Given the description of an element on the screen output the (x, y) to click on. 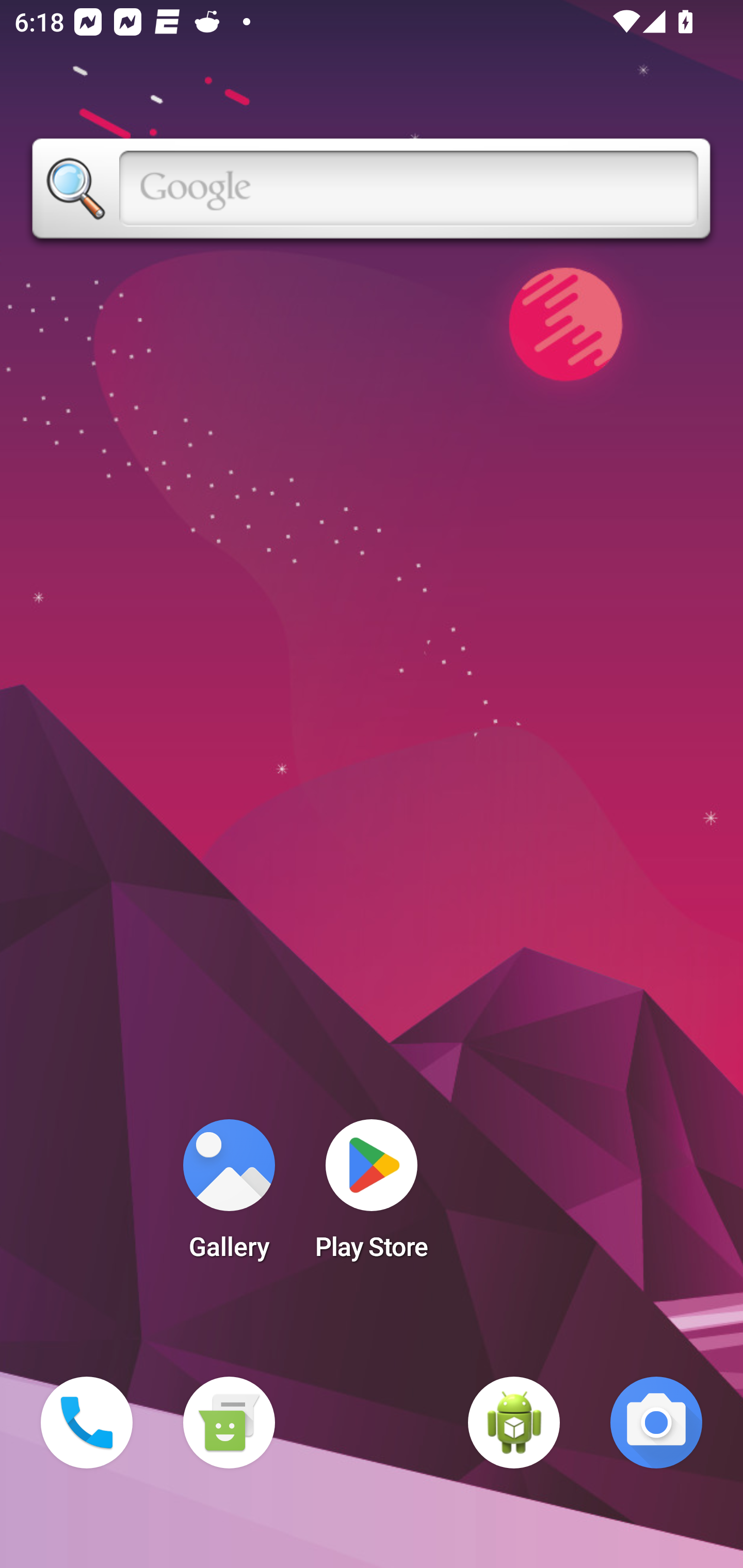
Gallery (228, 1195)
Play Store (371, 1195)
Phone (86, 1422)
Messaging (228, 1422)
WebView Browser Tester (513, 1422)
Camera (656, 1422)
